Given the description of an element on the screen output the (x, y) to click on. 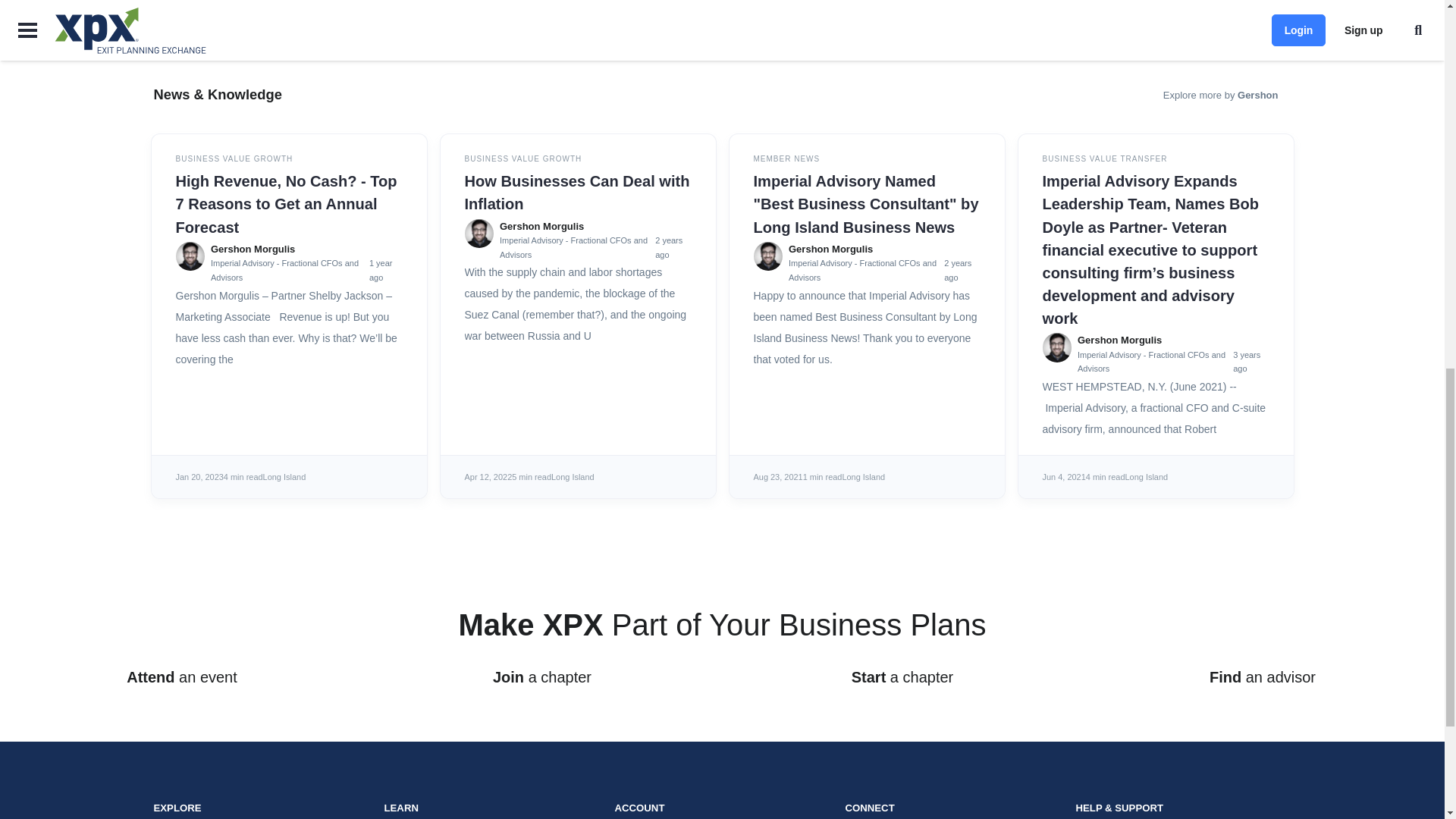
View XPX Long Island (1147, 476)
View XPX Long Island (284, 476)
View XPX Long Island (572, 476)
View XPX Long Island (863, 476)
